Given the description of an element on the screen output the (x, y) to click on. 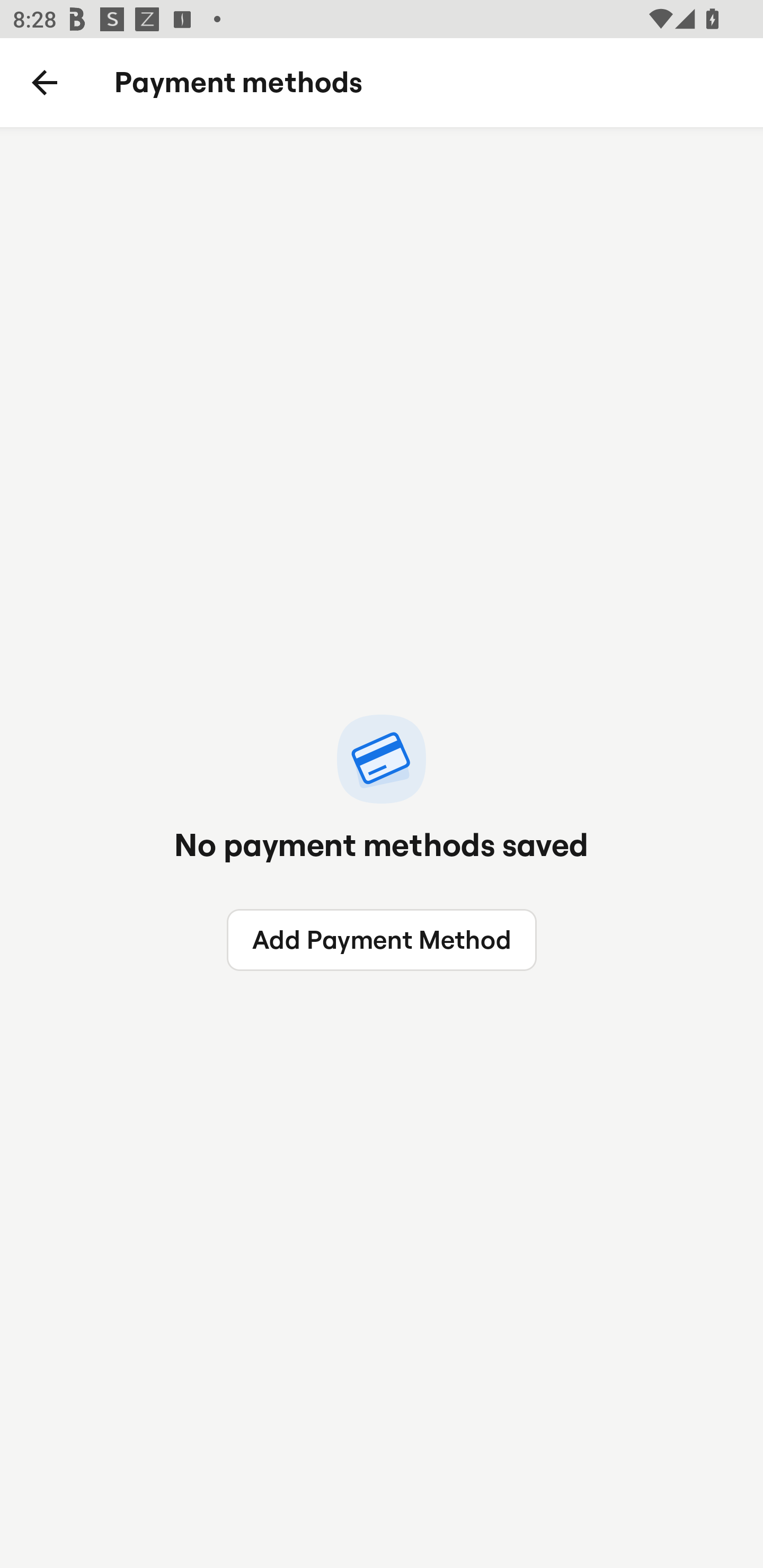
Back (44, 82)
Add Payment Method (381, 940)
